Given the description of an element on the screen output the (x, y) to click on. 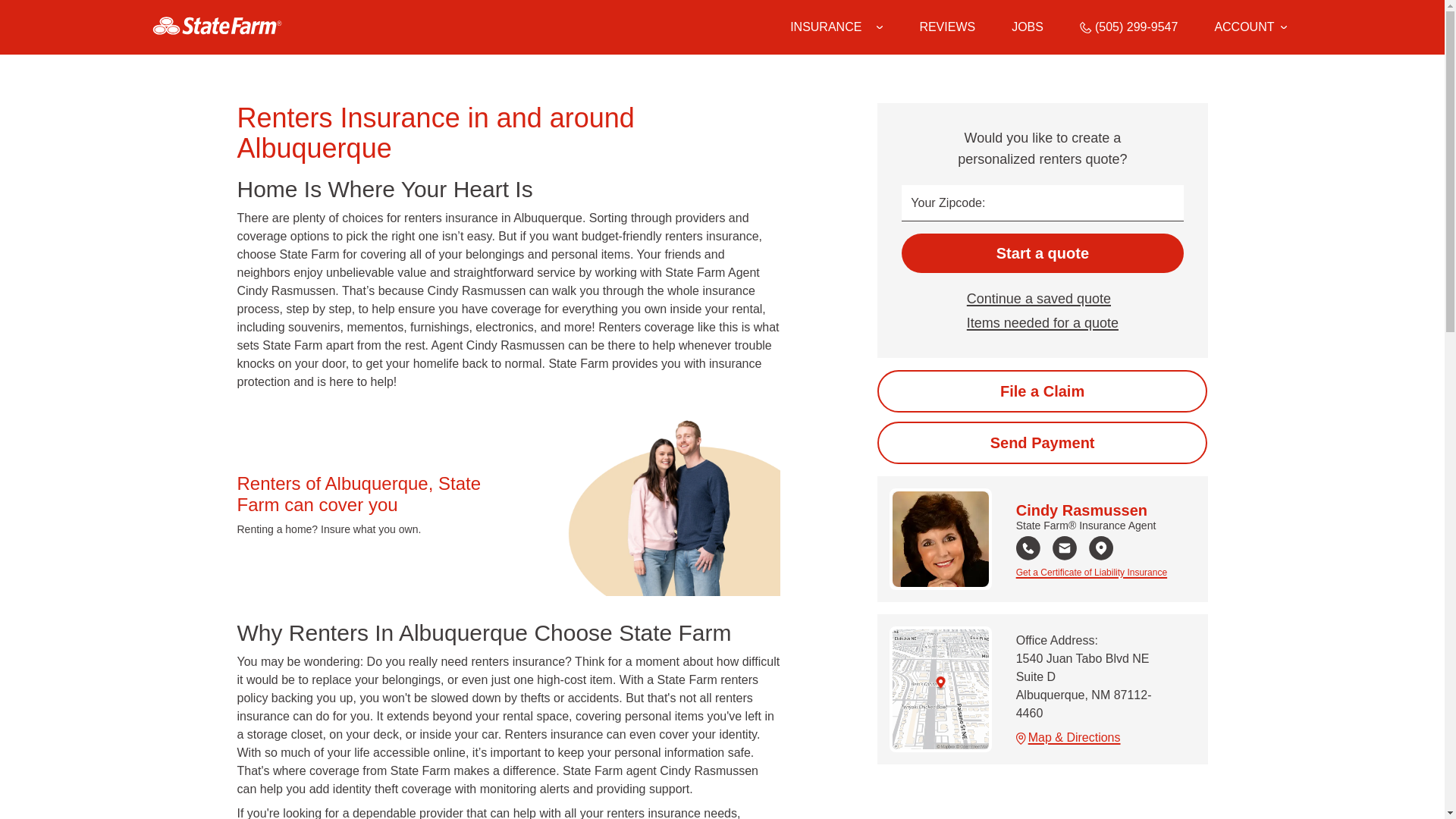
ACCOUNT (1250, 27)
Account Options (1250, 27)
Insurance (836, 27)
REVIEWS (946, 27)
INSURANCE (825, 27)
Start the claim process online (1042, 391)
JOBS (1027, 27)
